Given the description of an element on the screen output the (x, y) to click on. 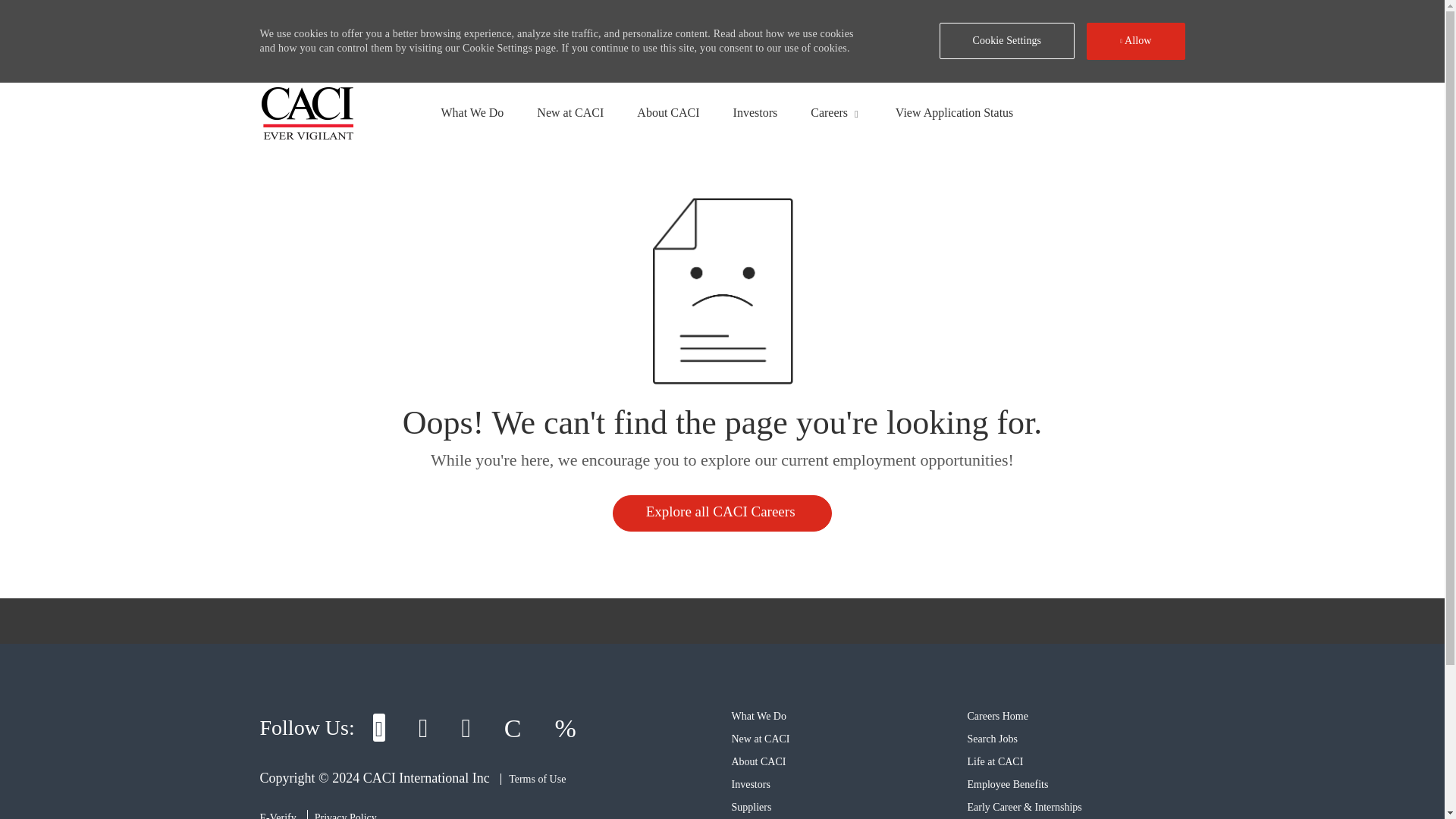
What We Do (758, 715)
About CACI (758, 761)
Investors (755, 112)
What We Do (472, 112)
Explore all CACI Careers  (722, 513)
Terms of Use (533, 778)
About CACI (667, 112)
Allow (1135, 40)
E-Verify (277, 815)
Careers (828, 112)
